Given the description of an element on the screen output the (x, y) to click on. 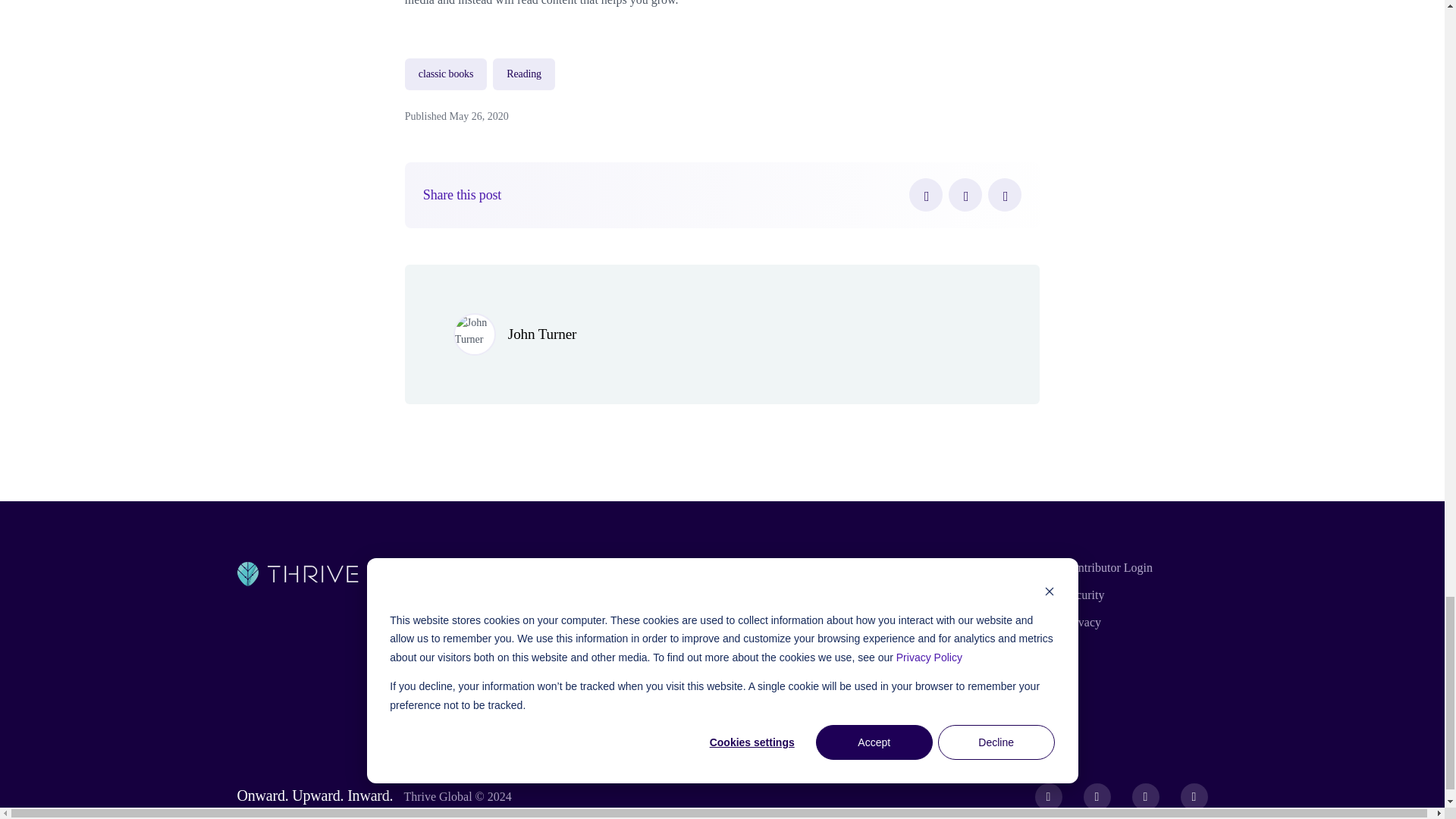
Twitter (965, 194)
LinkedIn (1005, 194)
John Turner (542, 333)
Facebook (925, 194)
